Given the description of an element on the screen output the (x, y) to click on. 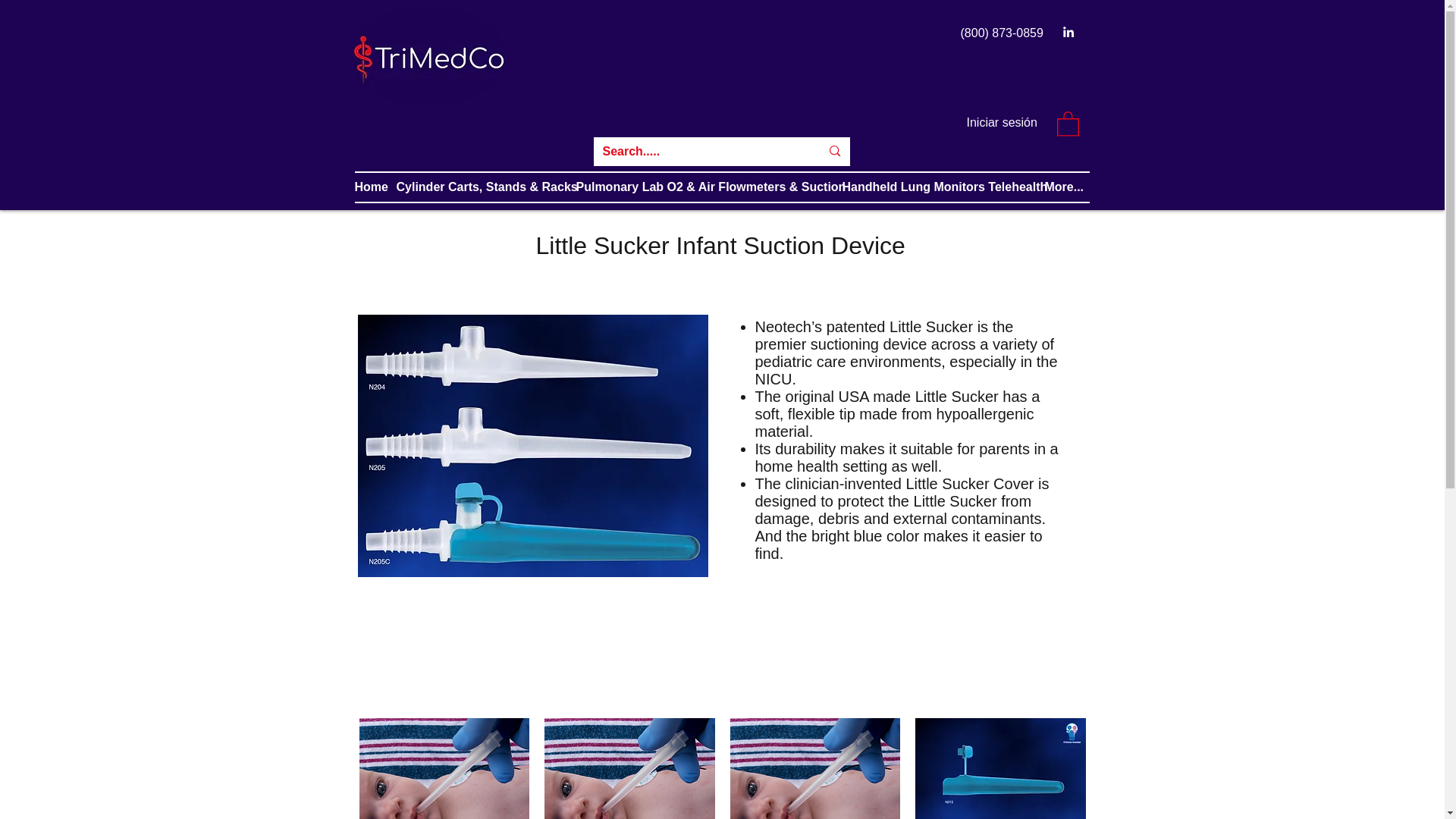
Home (375, 187)
Handheld Lung Monitors Telehealth (942, 187)
Pulmonary Lab (621, 187)
